Given the description of an element on the screen output the (x, y) to click on. 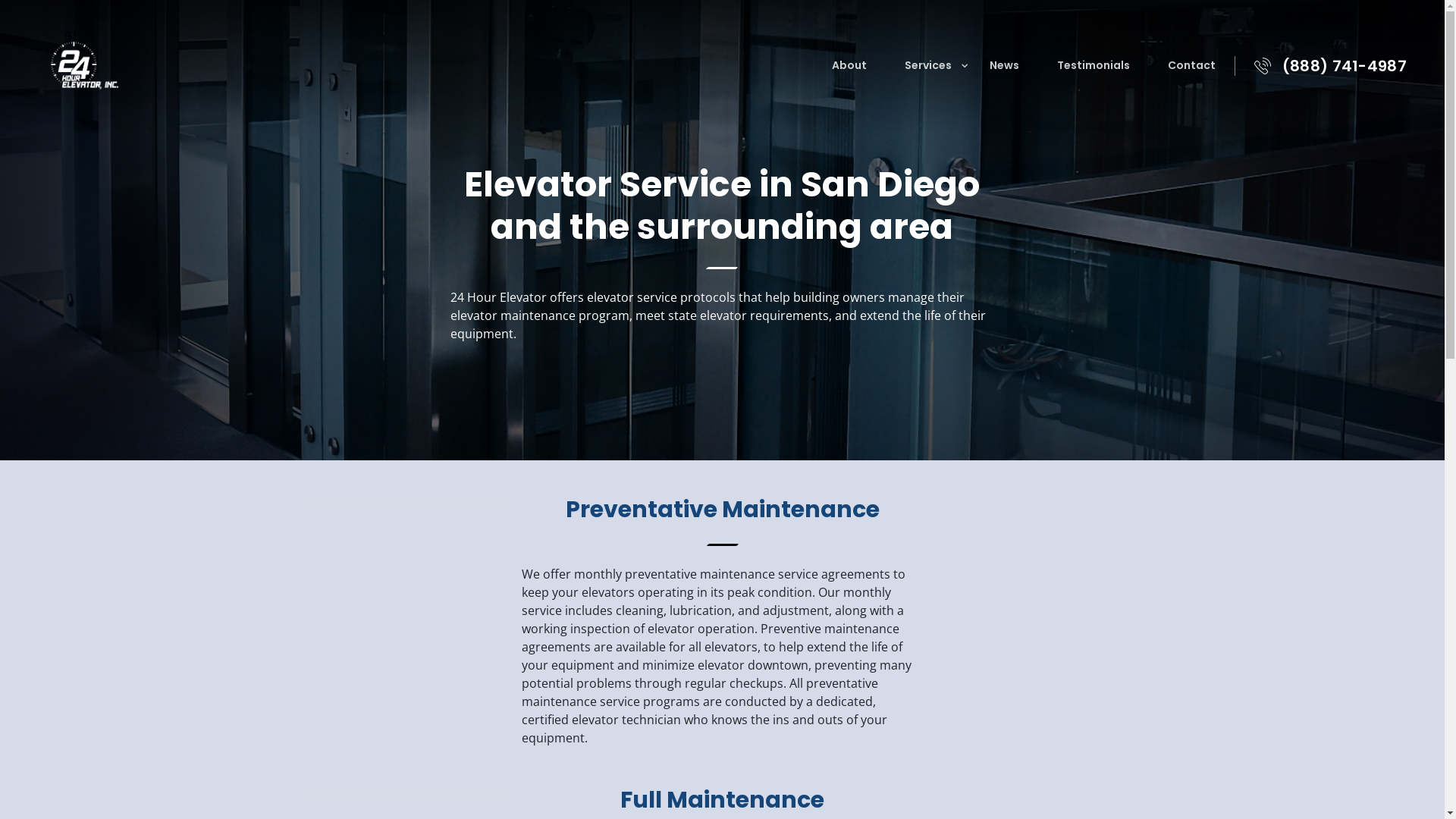
(888) 741-4987 Element type: text (1344, 65)
About Element type: text (848, 65)
Services Element type: text (927, 65)
Testimonials Element type: text (1093, 65)
Contact Element type: text (1191, 65)
News Element type: text (1004, 65)
